Given the description of an element on the screen output the (x, y) to click on. 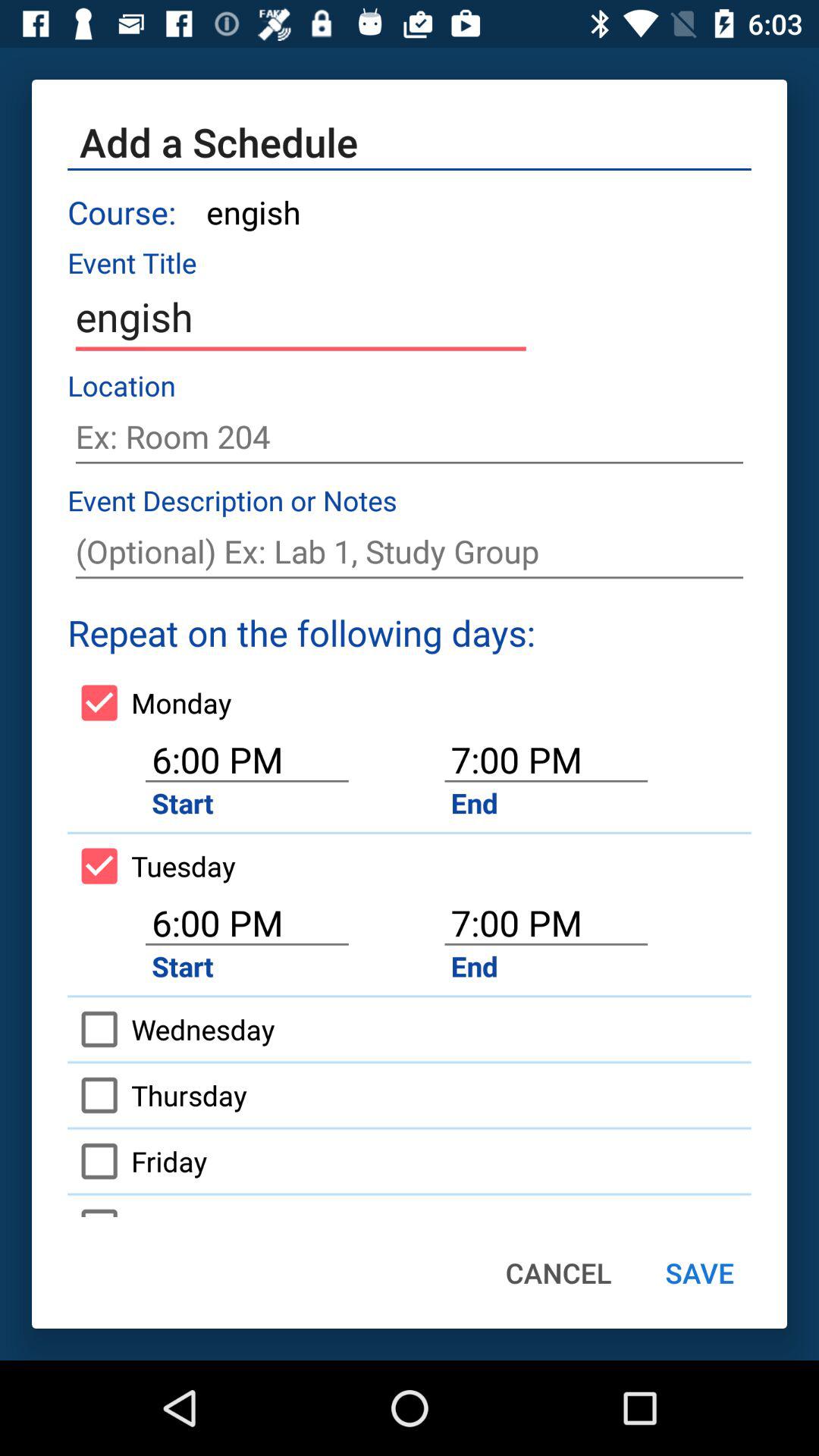
launch the item next to save item (558, 1272)
